Given the description of an element on the screen output the (x, y) to click on. 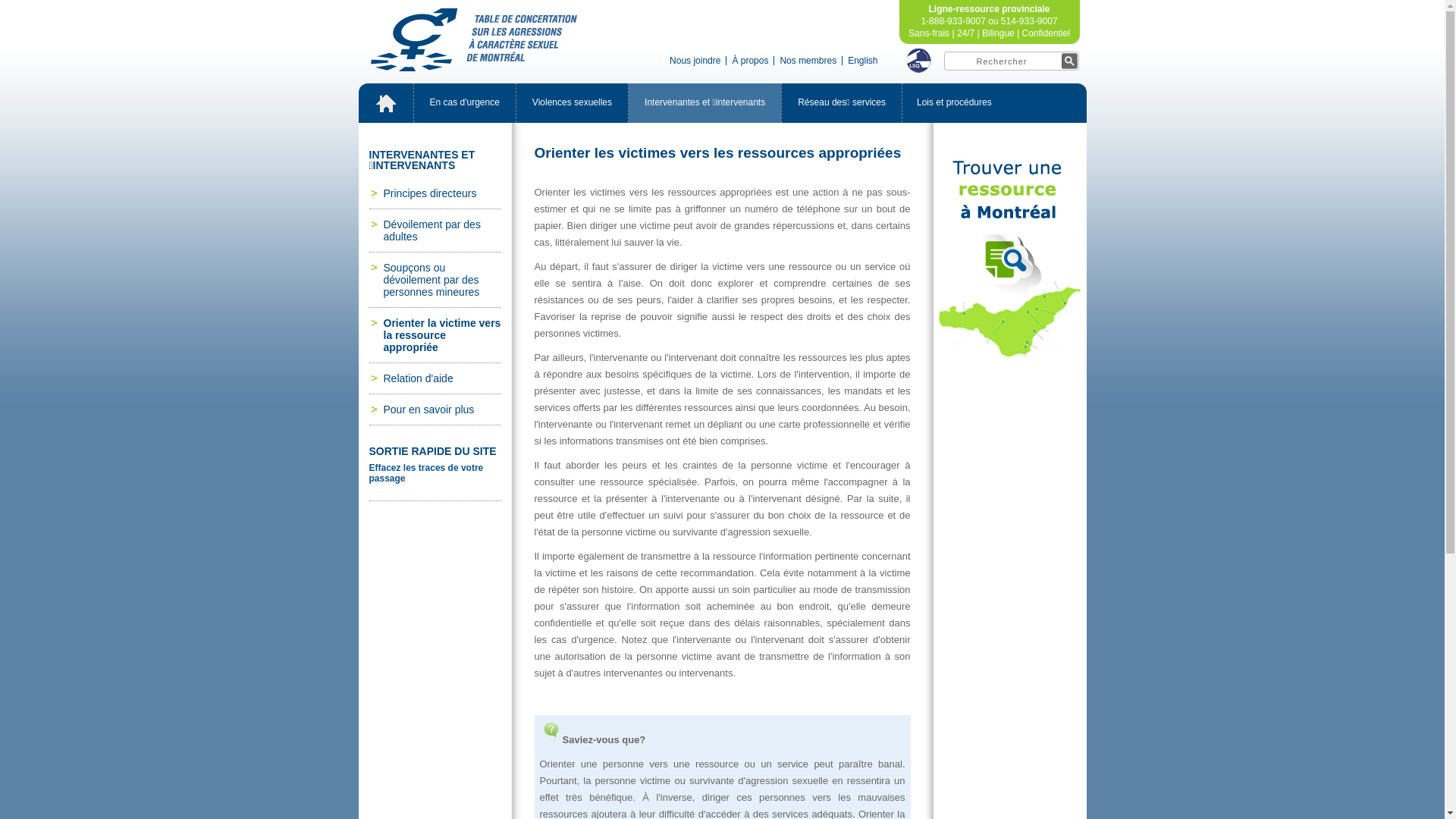
Rechercher Element type: text (1010, 60)
Intervenantes et intervenants Element type: text (704, 102)
English Element type: text (862, 60)
Effacez les traces de votre passage Element type: text (425, 472)
Pour en savoir plus Element type: text (434, 409)
Principes directeurs Element type: text (434, 193)
En cas d'urgence Element type: text (464, 102)
Violences sexuelles Element type: text (571, 102)
Nous joindre Element type: text (694, 60)
INTERVENANTES ET INTERVENANTS Element type: text (421, 159)
SORTIE RAPIDE DU SITE Element type: text (434, 466)
Saviez-vous que - question mark-balloon_green.png Element type: hover (550, 731)
Nos membres Element type: text (807, 60)
LSQ Element type: text (918, 60)
Relation d'aide Element type: text (434, 378)
Accueil Element type: text (384, 102)
